Given the description of an element on the screen output the (x, y) to click on. 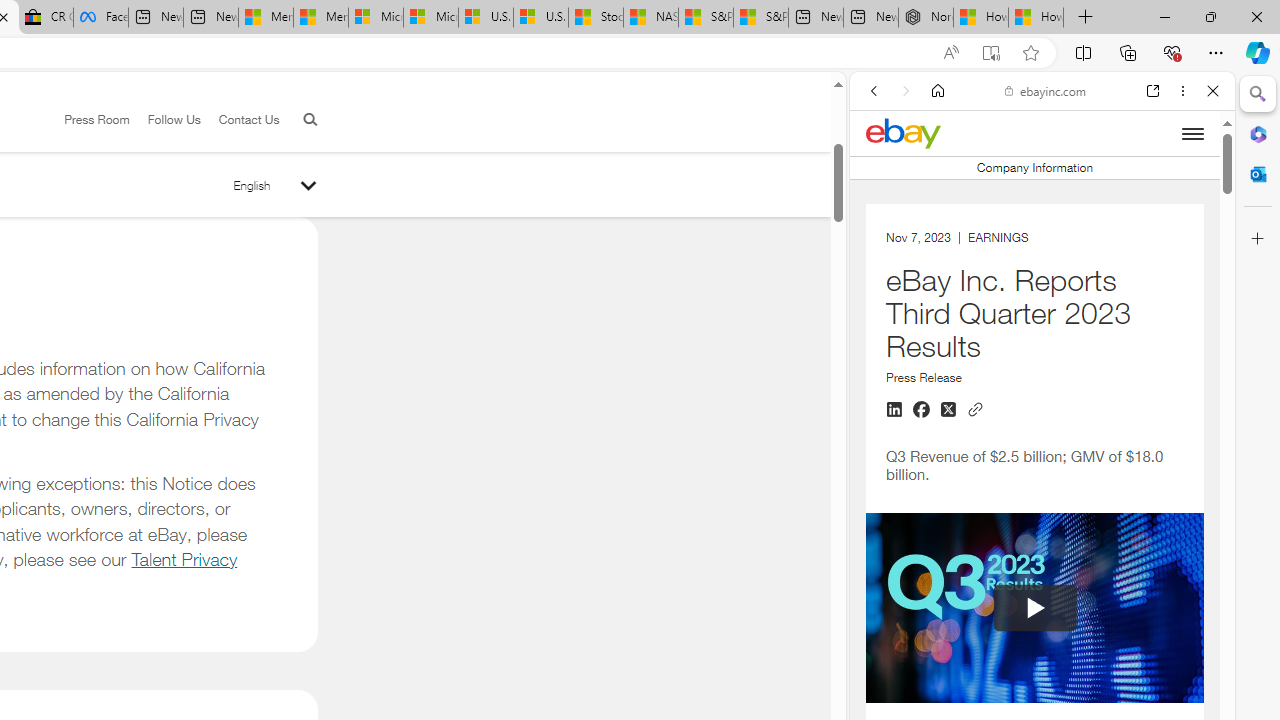
Outlook (1258, 174)
Open link in new tab (1153, 91)
This site scope (937, 180)
Web scope (882, 180)
Share on X (Twitter) (948, 410)
Menu (1192, 133)
How to Use a Monitor With Your Closed Laptop (1035, 17)
